Given the description of an element on the screen output the (x, y) to click on. 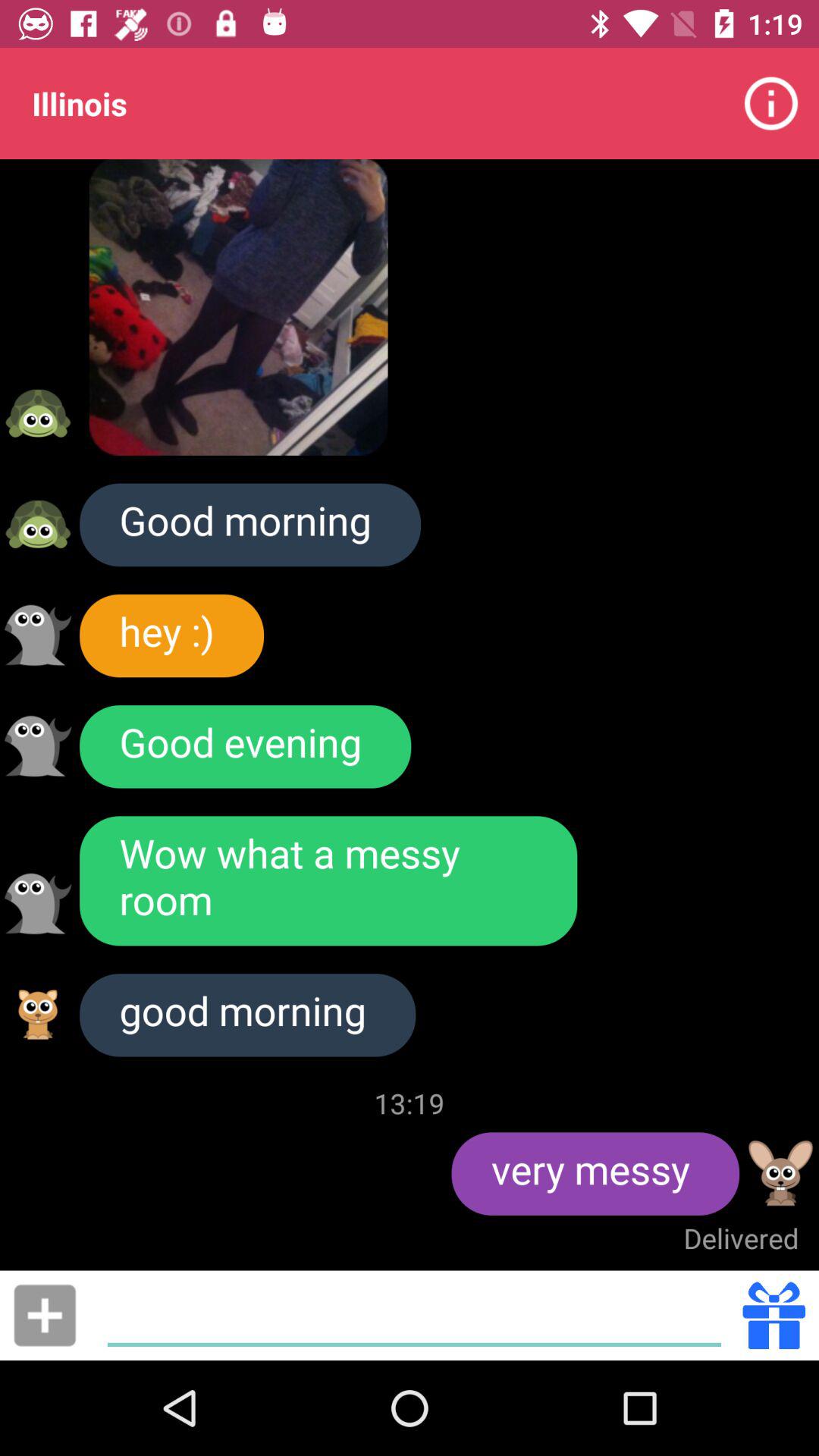
press the item next to very messy  icon (409, 1103)
